Given the description of an element on the screen output the (x, y) to click on. 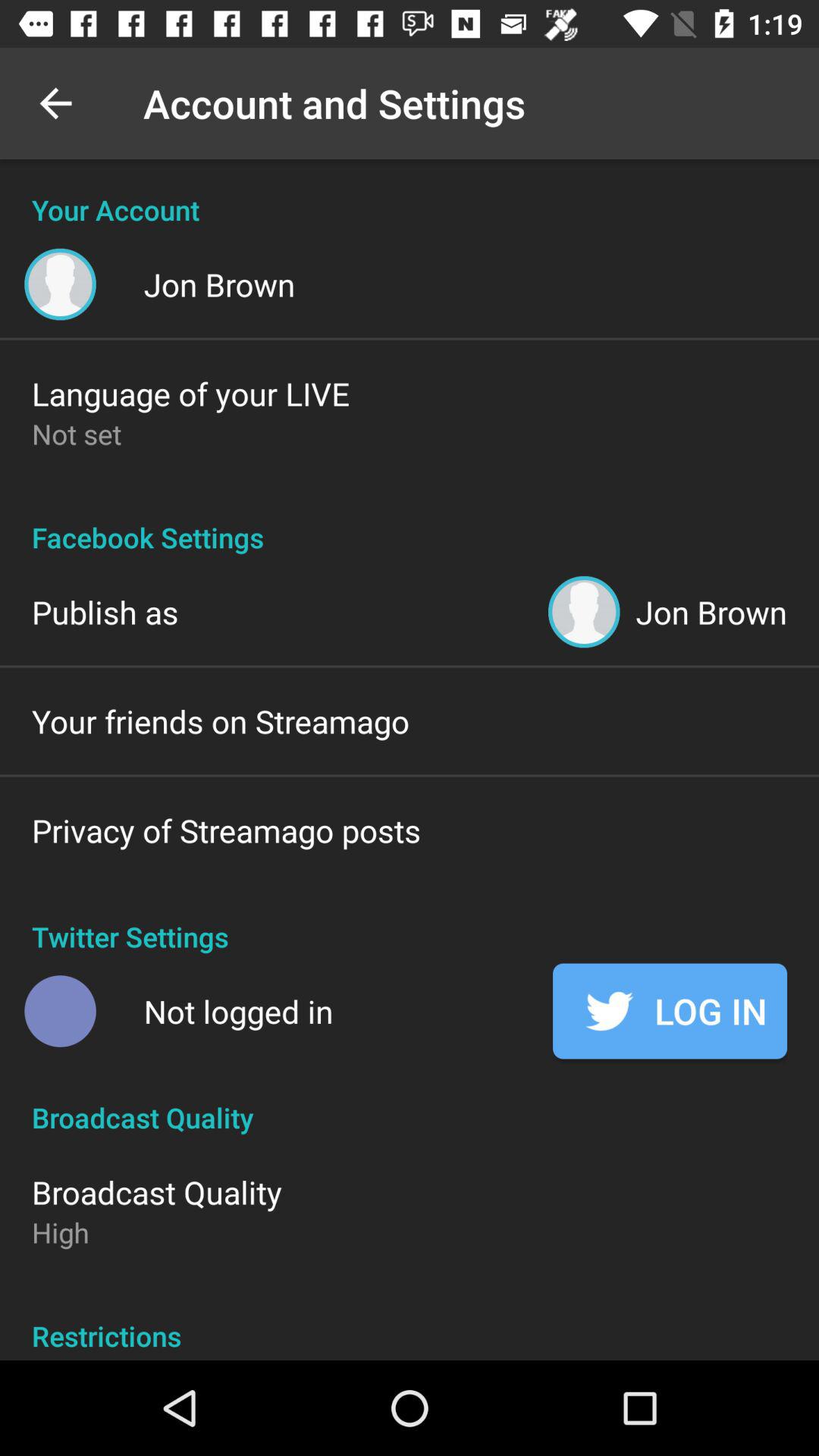
flip until twitter settings (409, 920)
